Given the description of an element on the screen output the (x, y) to click on. 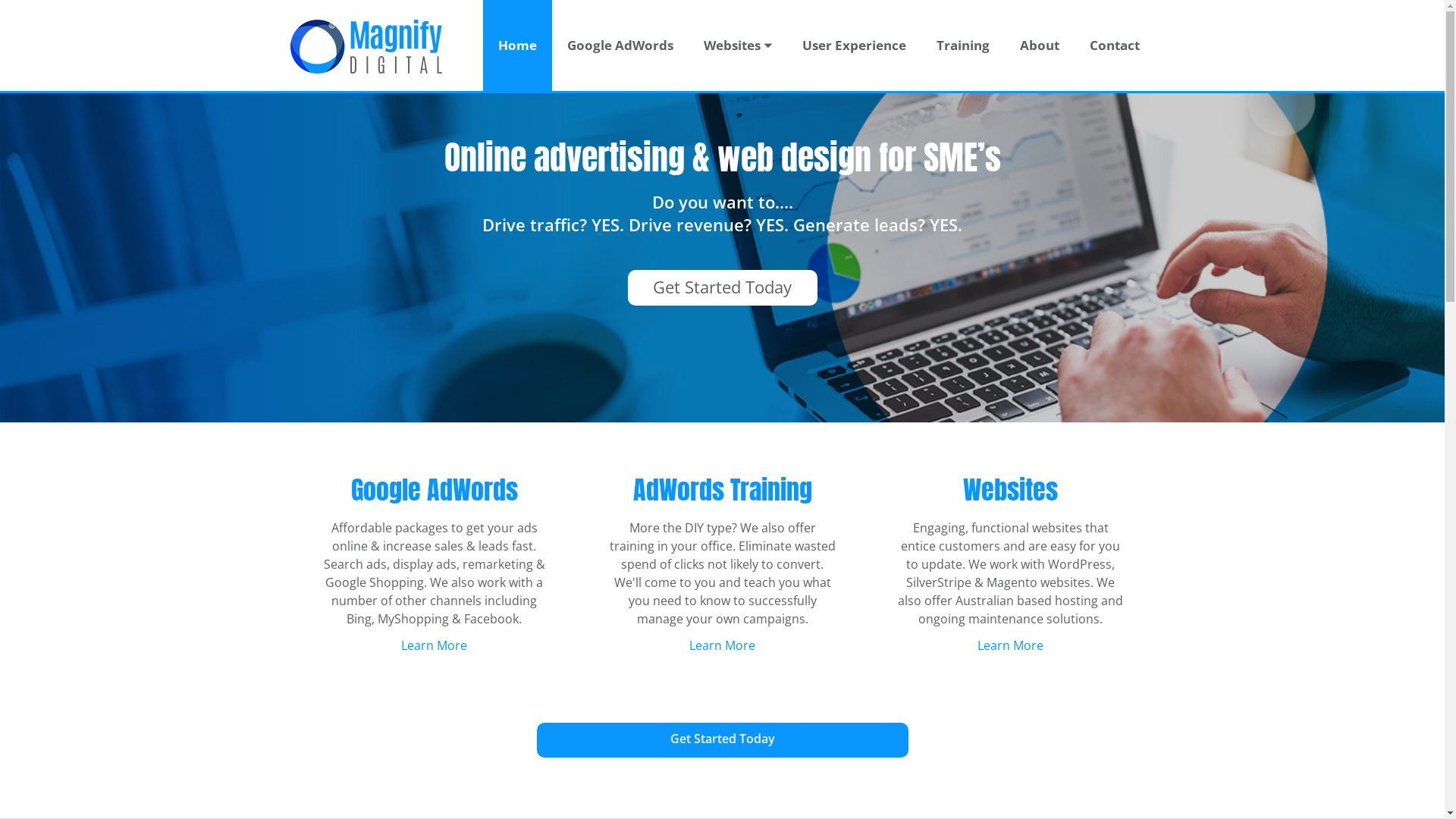
Learn More Element type: text (722, 645)
Get Started Today Element type: text (722, 286)
Get Started Today Element type: text (722, 738)
User Experience Element type: text (854, 45)
About Element type: text (1038, 45)
Home Element type: text (516, 45)
Learn More Element type: text (434, 645)
Google AdWords Element type: text (620, 45)
Contact Element type: text (1113, 45)
Training Element type: text (962, 45)
Learn More Element type: text (1010, 645)
Websites Element type: text (737, 45)
